Given the description of an element on the screen output the (x, y) to click on. 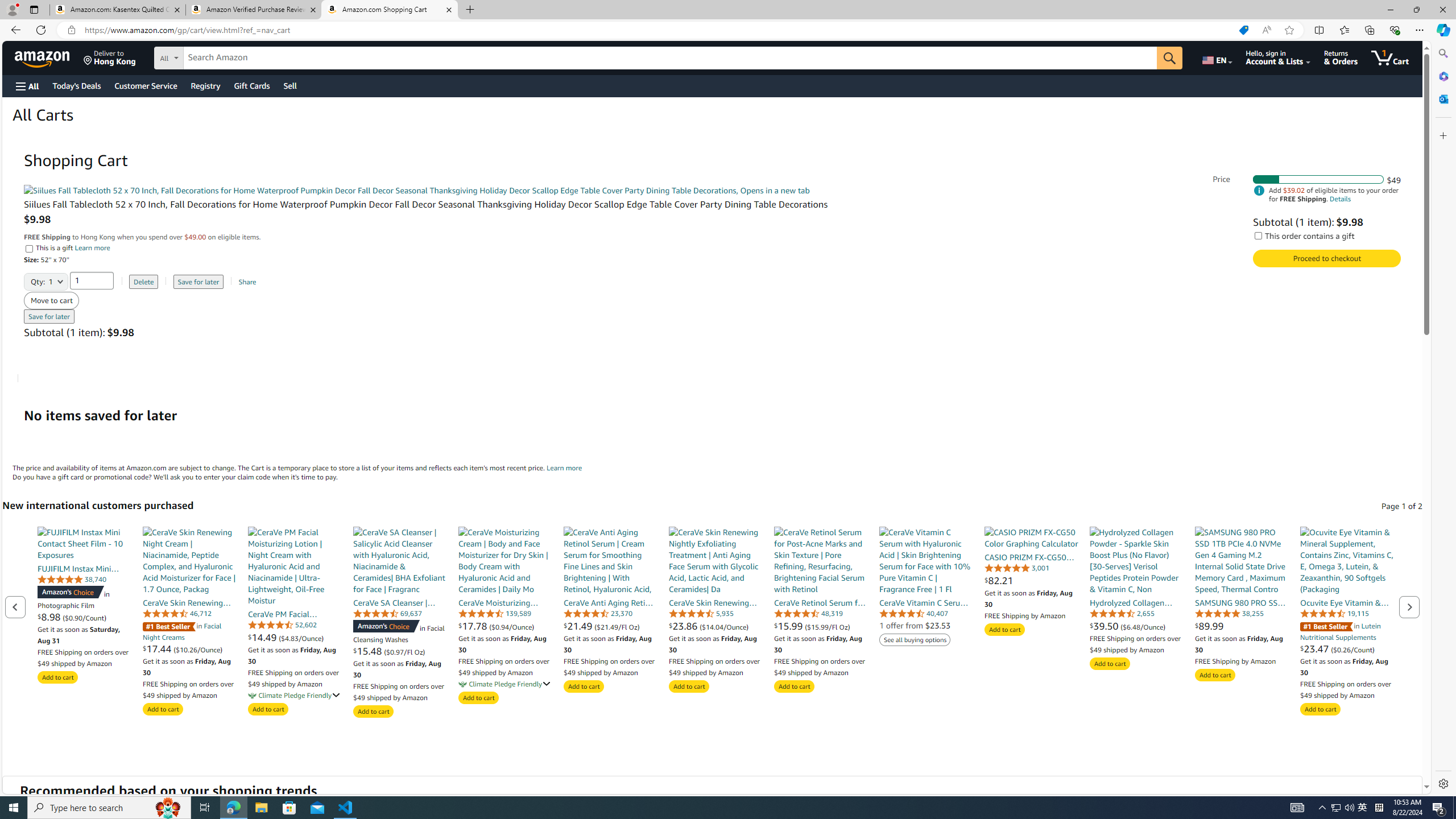
FUJIFILM Instax Mini Contact Sheet Film - 10 Exposures (84, 543)
Quantity (92, 280)
($0.90/Count) (84, 616)
Climate Pledge Friendly (462, 683)
Details (1340, 198)
($14.04/Ounce) (723, 626)
Class: a-link-normal a-text-normal (1346, 648)
($21.49/Fl Oz) (616, 626)
